Given the description of an element on the screen output the (x, y) to click on. 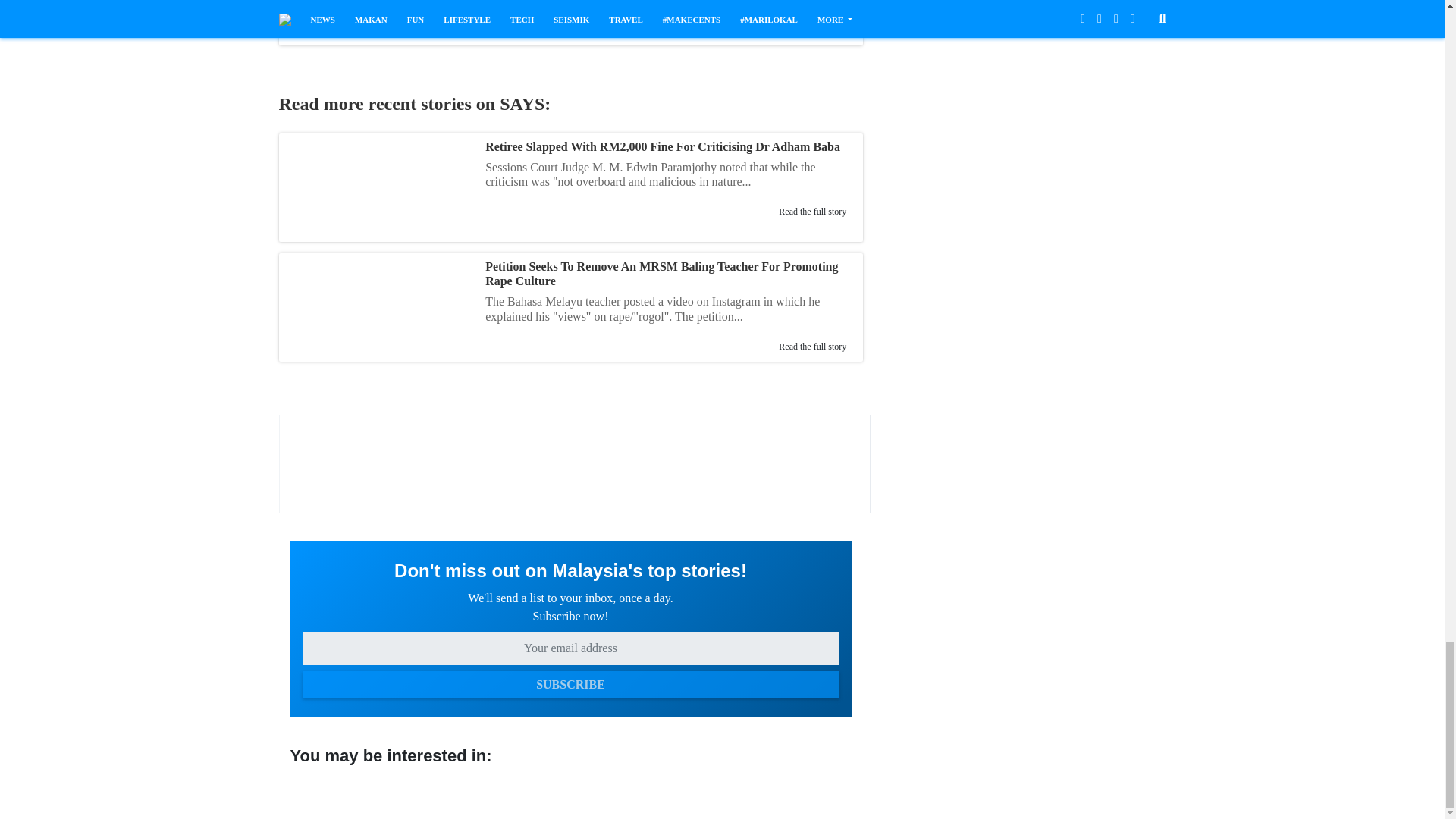
Subscribe (569, 684)
